Given the description of an element on the screen output the (x, y) to click on. 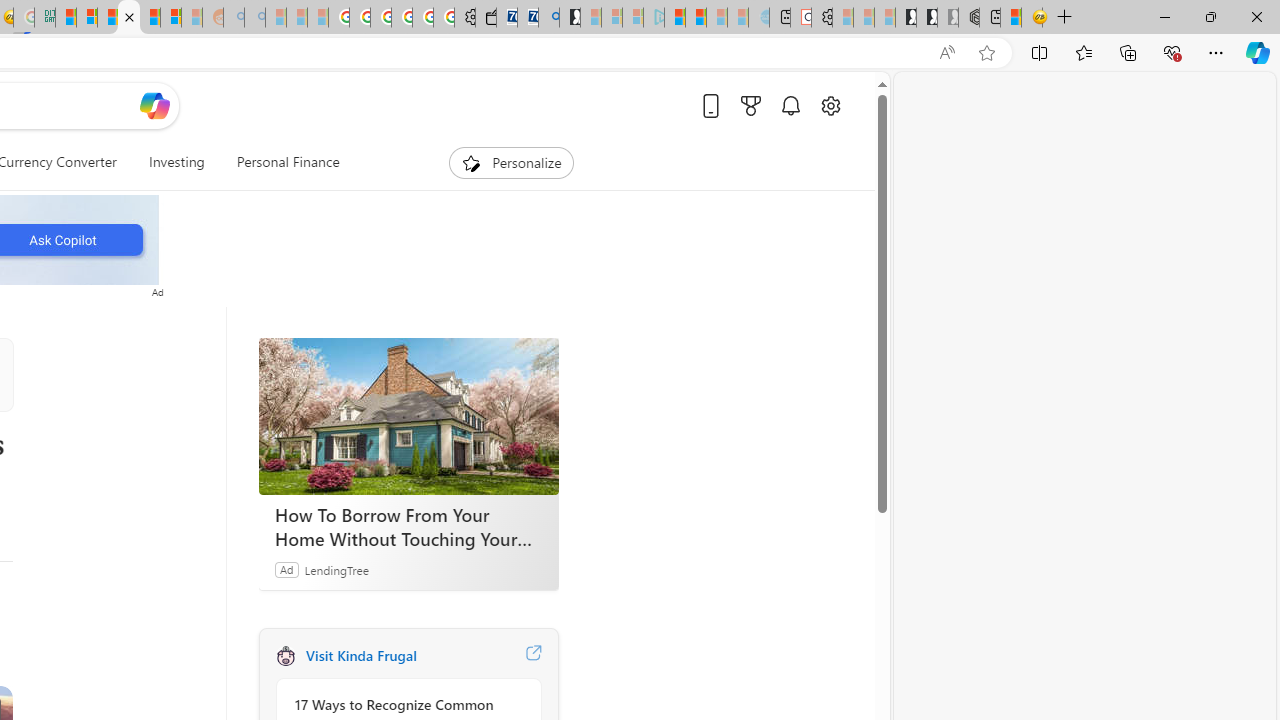
Investing (176, 162)
Investing (176, 162)
Kinda Frugal - MSN (149, 17)
LendingTree (336, 569)
Cheap Car Rentals - Save70.com (527, 17)
